Given the description of an element on the screen output the (x, y) to click on. 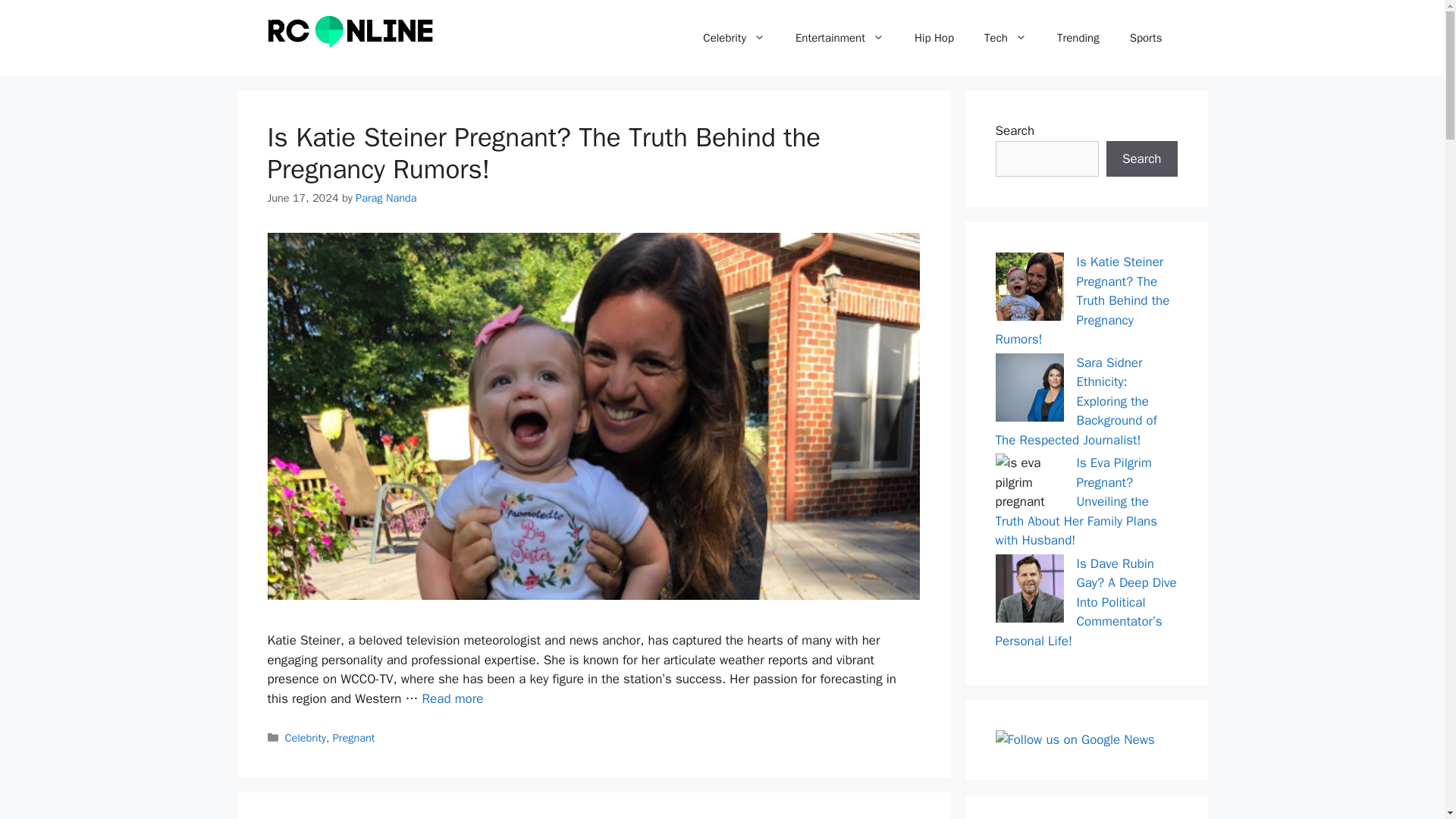
Read more (452, 698)
Trending (1078, 37)
Pregnant (354, 737)
Tech (1005, 37)
Celebrity (733, 37)
Entertainment (839, 37)
View all posts by Parag Nanda (385, 197)
Sports (1146, 37)
Parag Nanda (385, 197)
Hip Hop (934, 37)
Celebrity (305, 737)
